Given the description of an element on the screen output the (x, y) to click on. 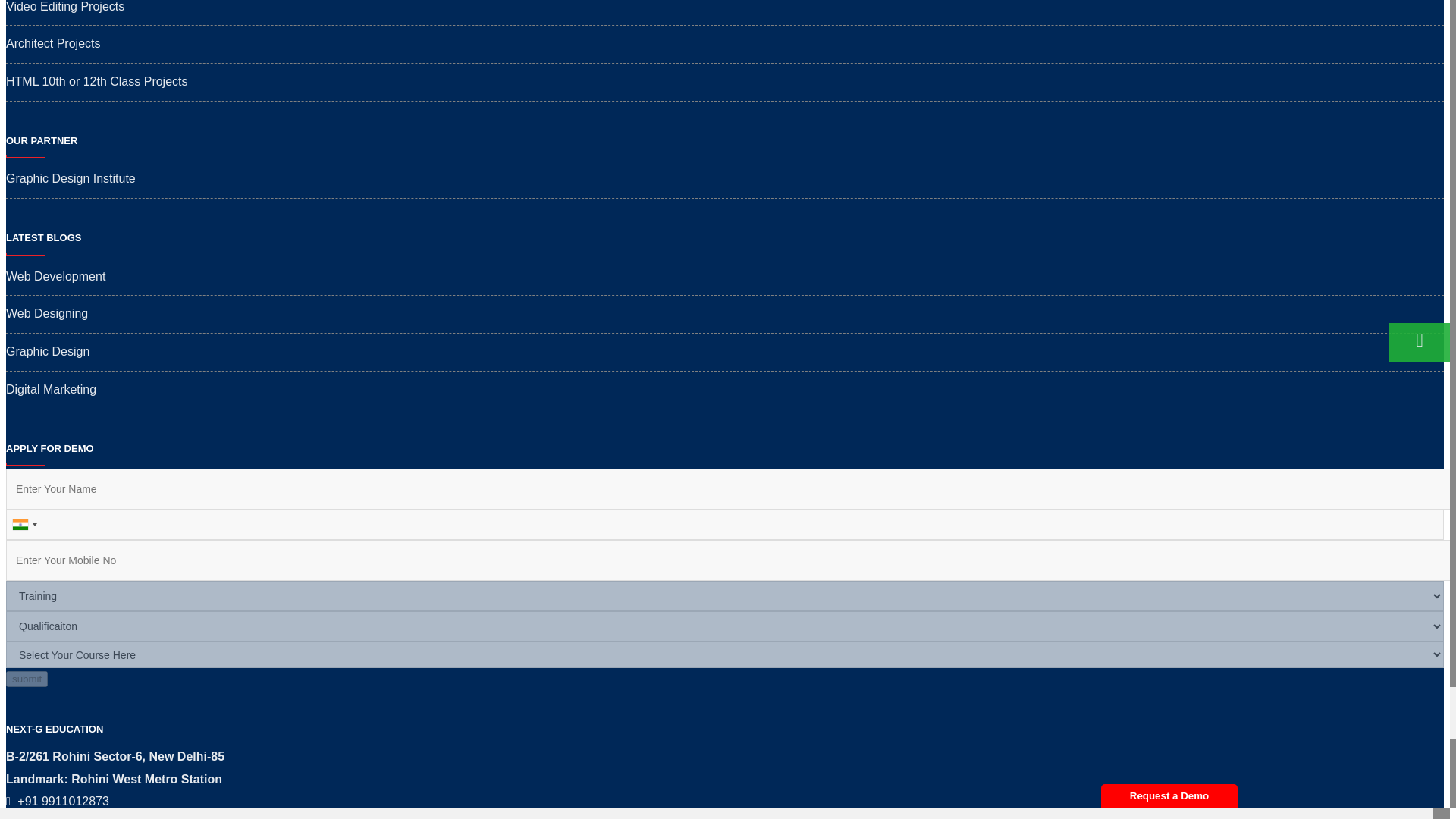
submit (26, 678)
